Given the description of an element on the screen output the (x, y) to click on. 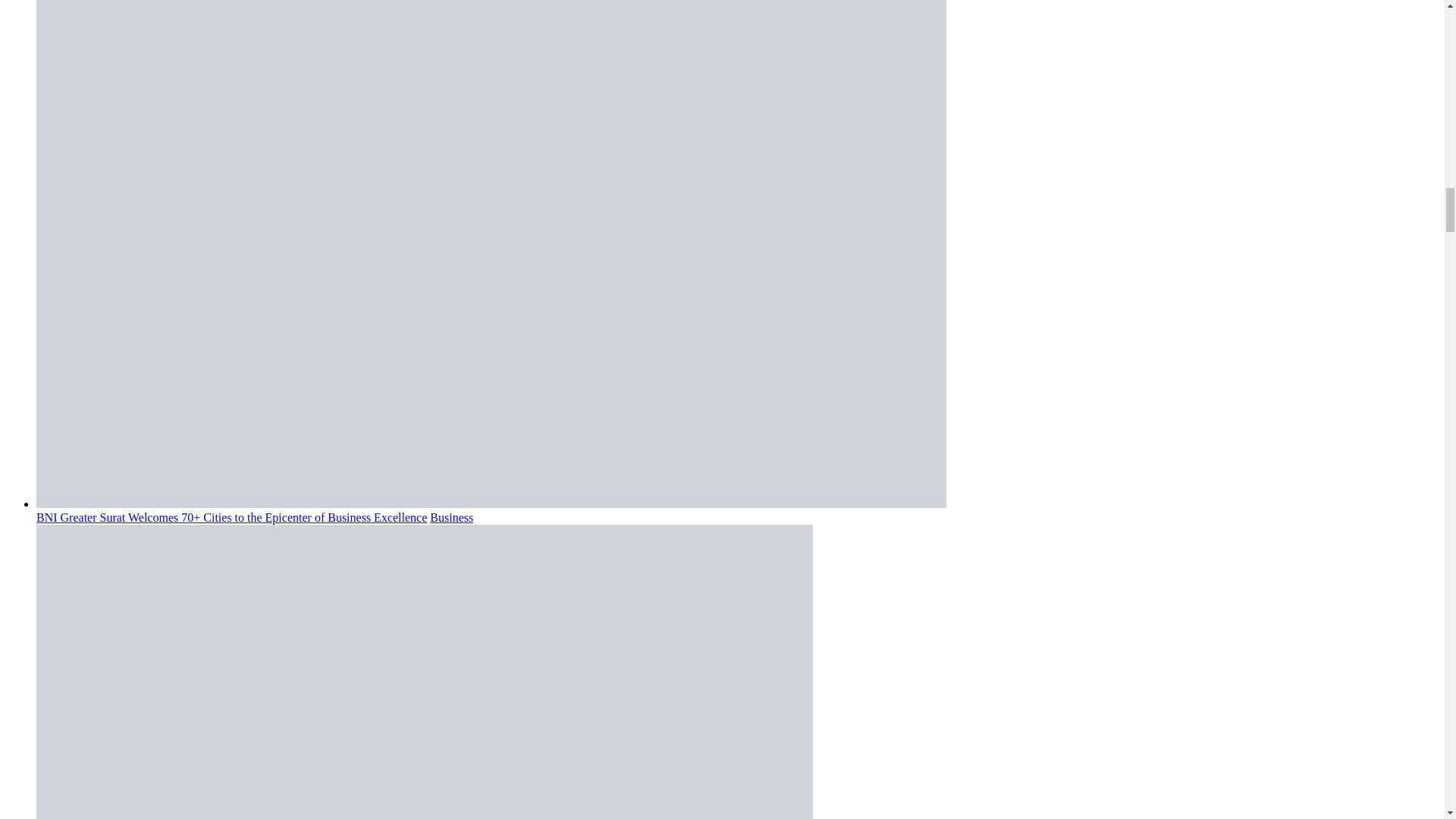
Business (451, 517)
